Given the description of an element on the screen output the (x, y) to click on. 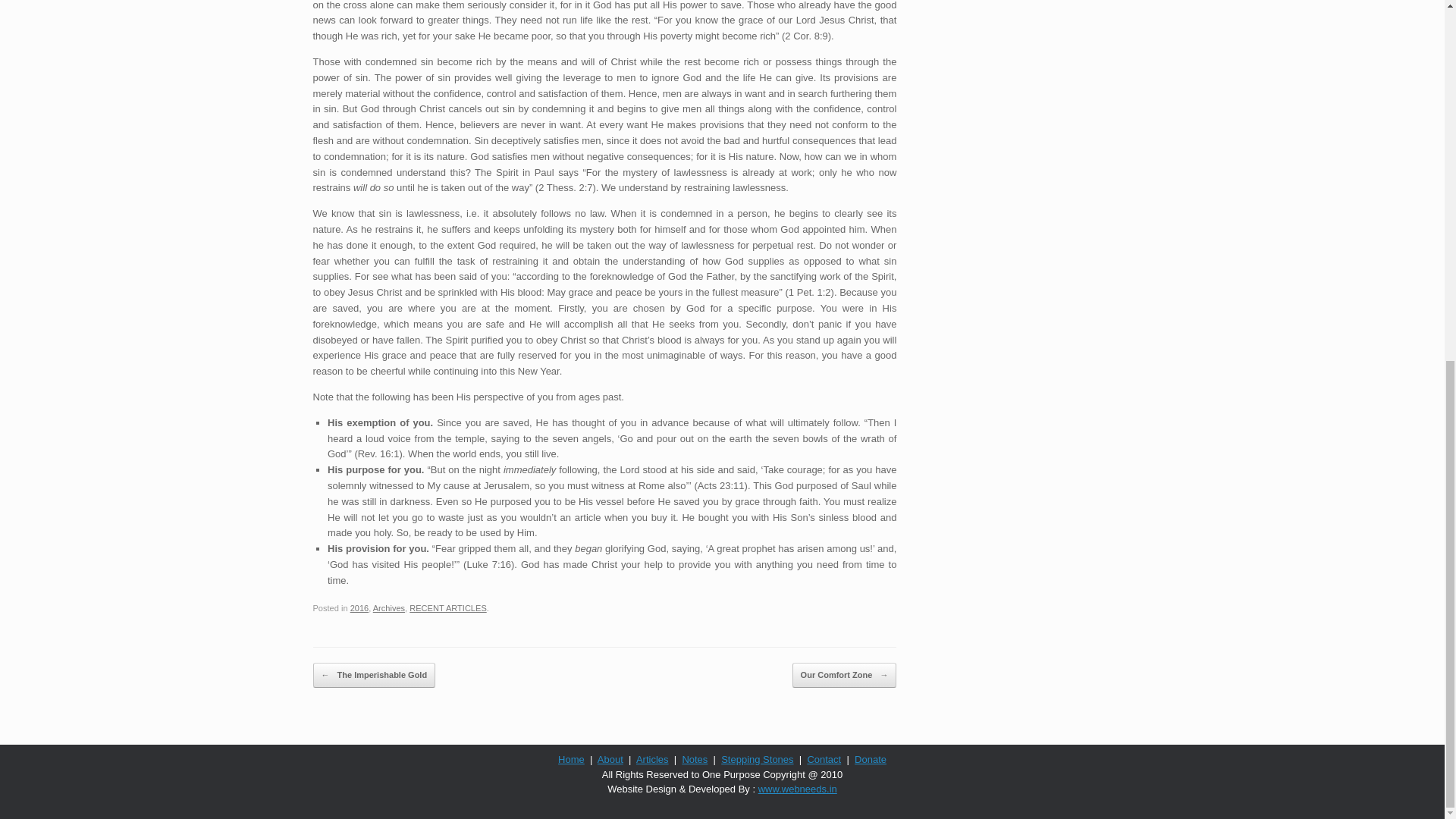
Archives (388, 607)
Stepping Stones (756, 758)
RECENT ARTICLES (447, 607)
Notes (694, 758)
About (609, 758)
Articles (652, 758)
2016 (359, 607)
Home (571, 758)
